Given the description of an element on the screen output the (x, y) to click on. 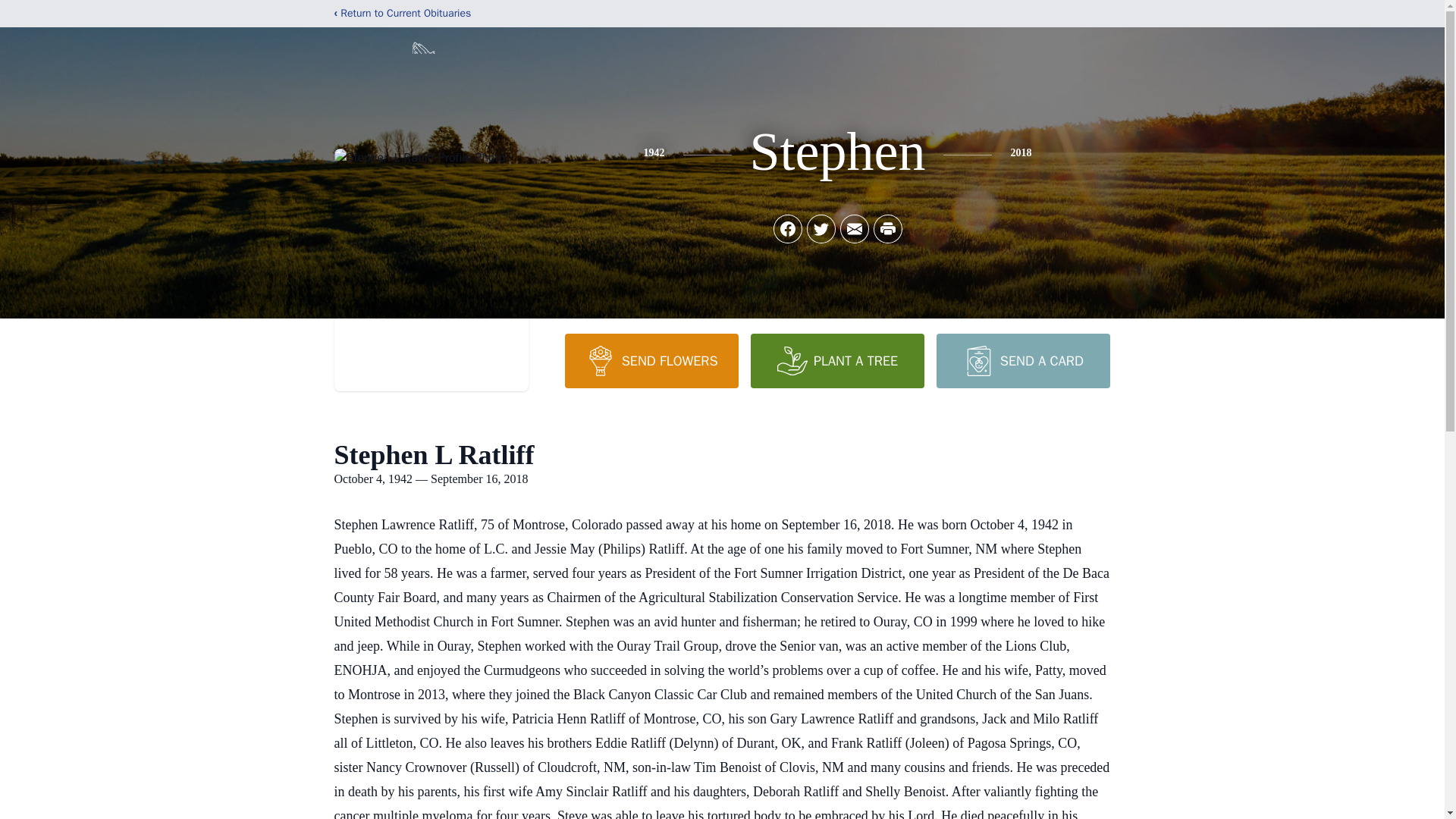
SEND A CARD (1022, 360)
PLANT A TREE (837, 360)
SEND FLOWERS (651, 360)
